Given the description of an element on the screen output the (x, y) to click on. 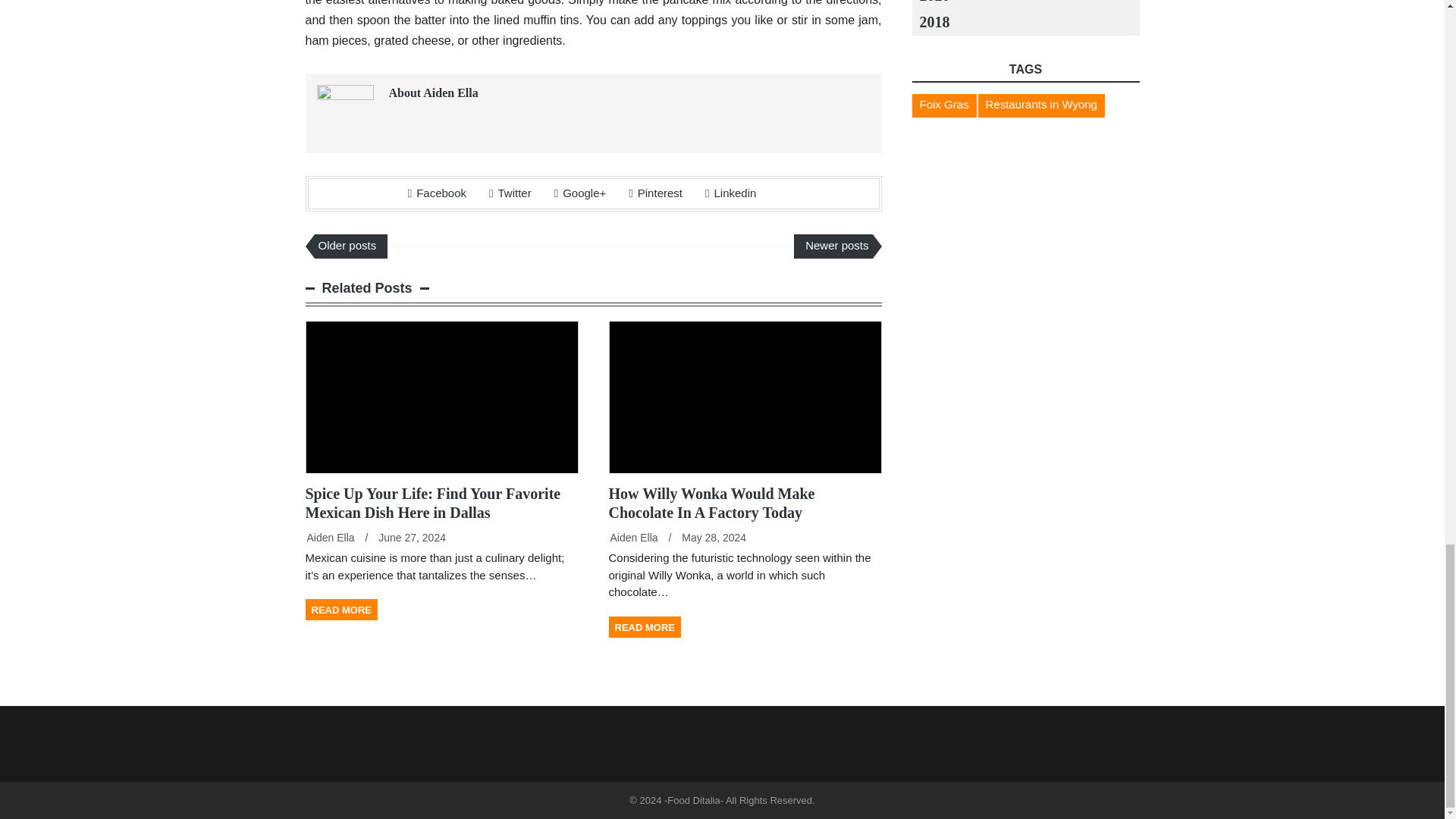
READ MORE (340, 608)
Linkedin (729, 192)
Pinterest (655, 192)
Facebook (436, 192)
READ MORE (643, 627)
Newer posts (832, 246)
Aiden Ella (329, 537)
Older posts (350, 246)
Posts by Aiden Ella (329, 537)
